Given the description of an element on the screen output the (x, y) to click on. 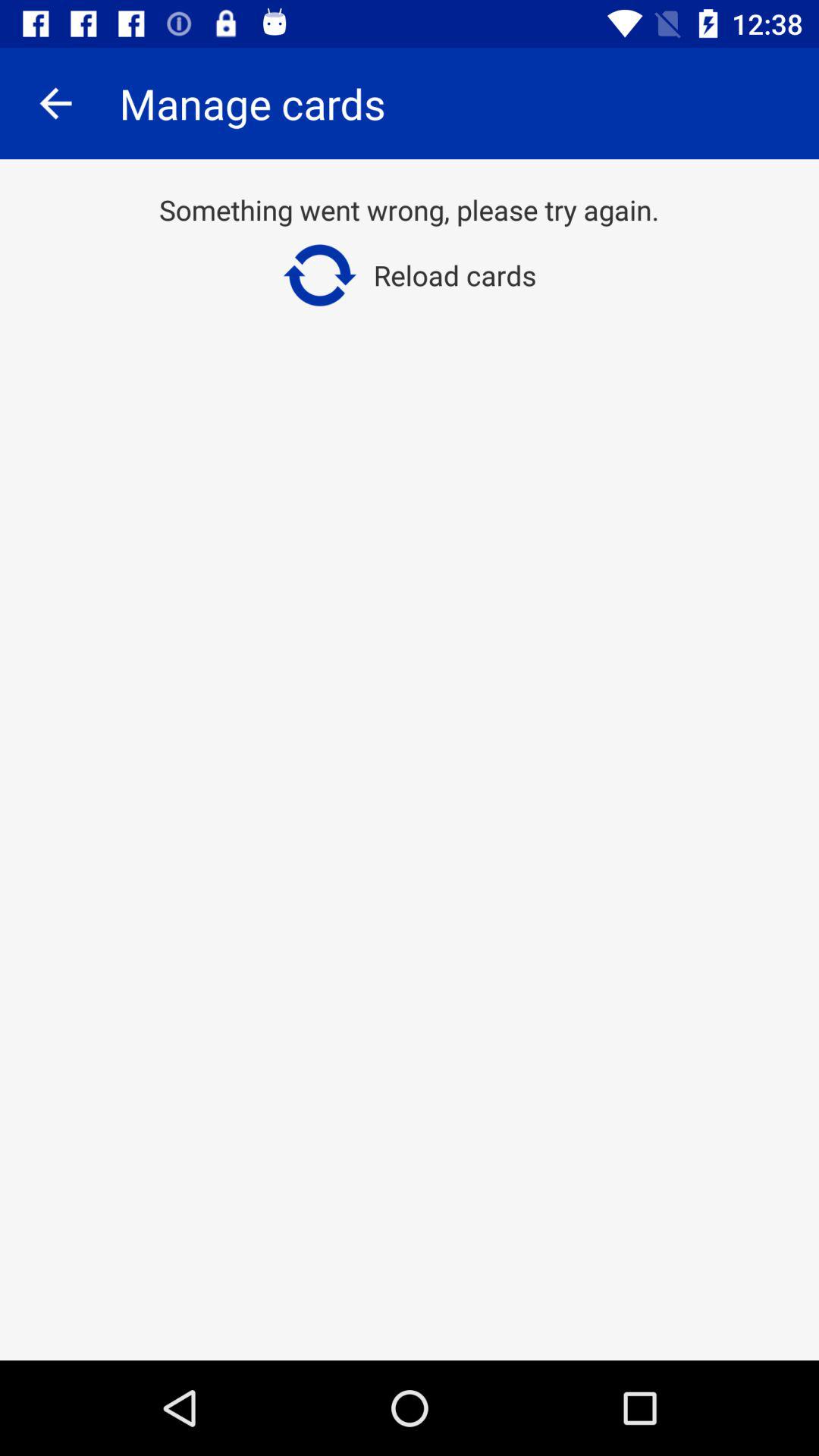
launch the item below the something went wrong (409, 275)
